Given the description of an element on the screen output the (x, y) to click on. 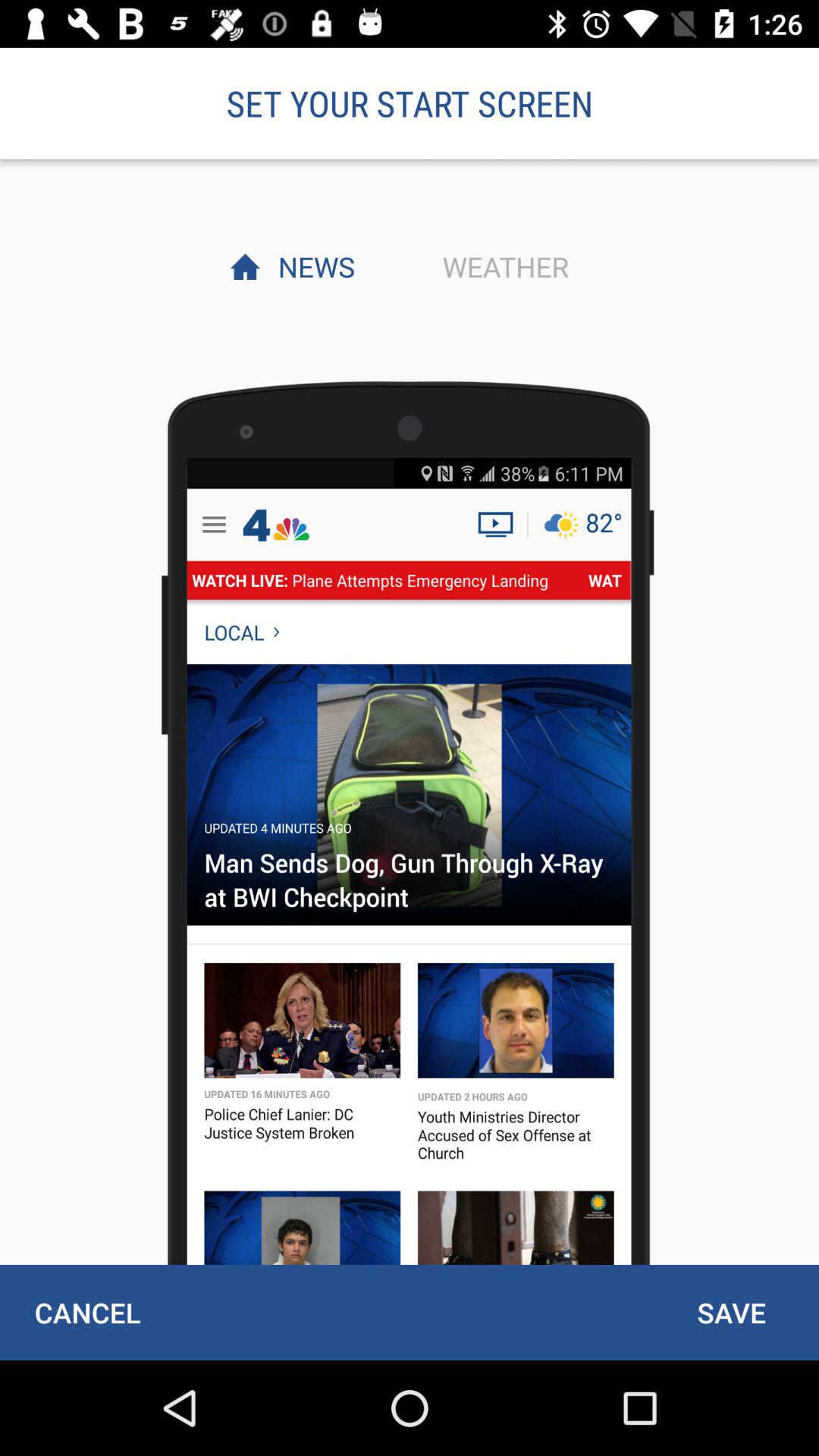
swipe to the weather item (501, 266)
